Given the description of an element on the screen output the (x, y) to click on. 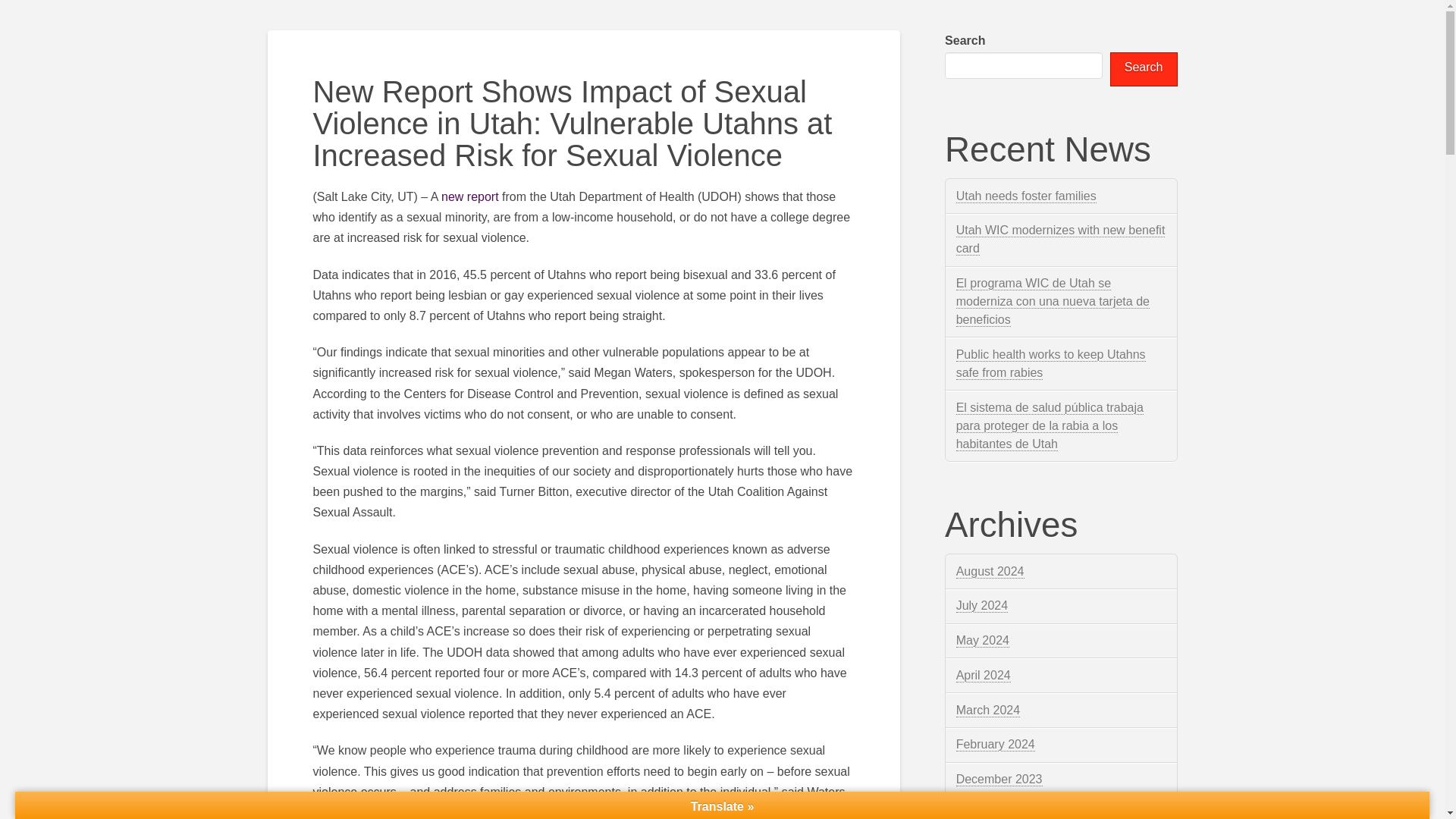
Search (1143, 69)
Utah WIC modernizes with new benefit card (1061, 239)
April 2024 (983, 675)
August 2024 (990, 571)
May 2024 (982, 640)
new report (470, 196)
November 2023 (999, 813)
February 2024 (995, 744)
July 2024 (982, 605)
